Given the description of an element on the screen output the (x, y) to click on. 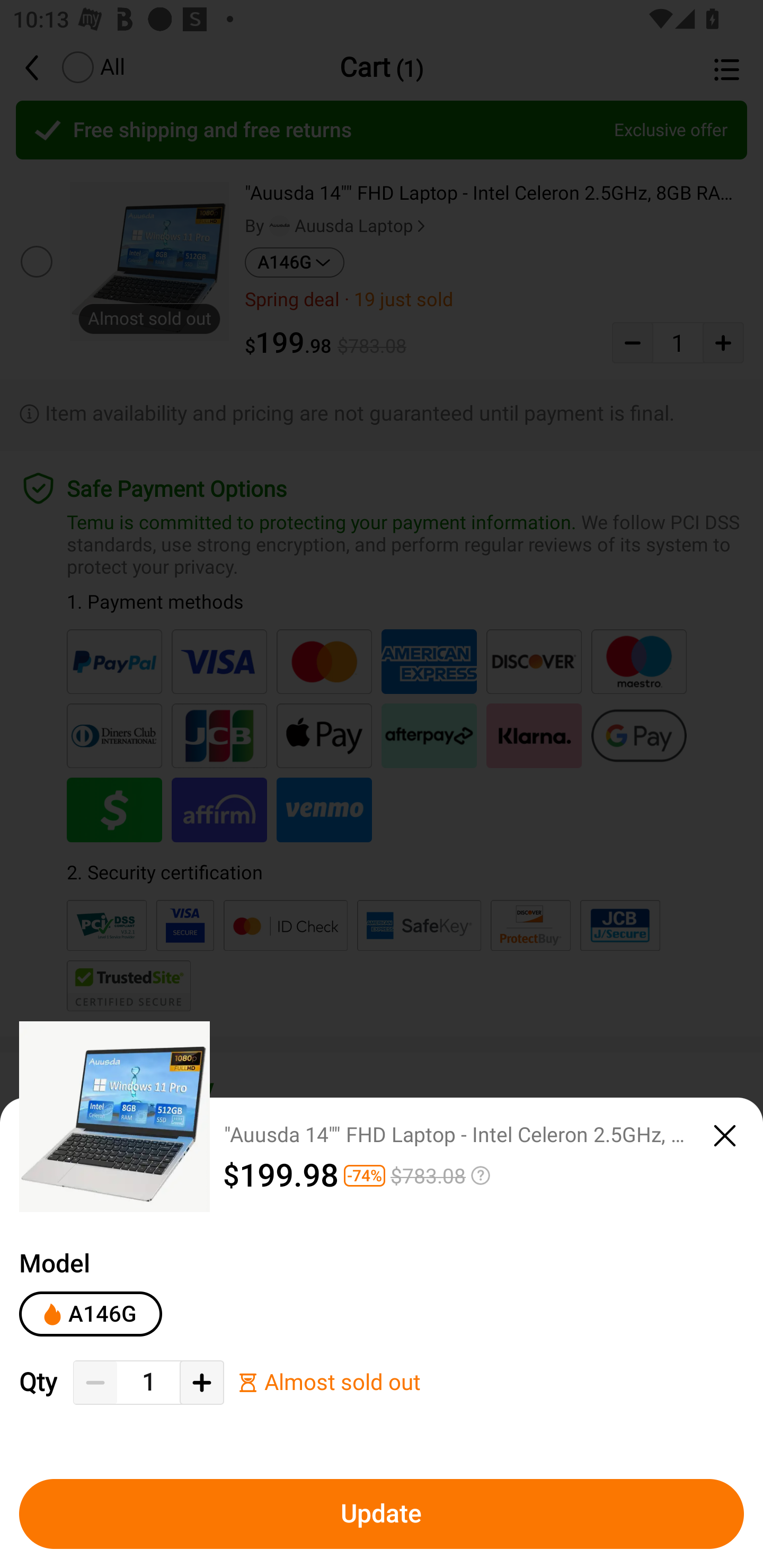
close (724, 1135)
 A146G (90, 1313)
Decrease Quantity Button (95, 1382)
Add Quantity Button (201, 1382)
1 (148, 1382)
Update (381, 1513)
